Given the description of an element on the screen output the (x, y) to click on. 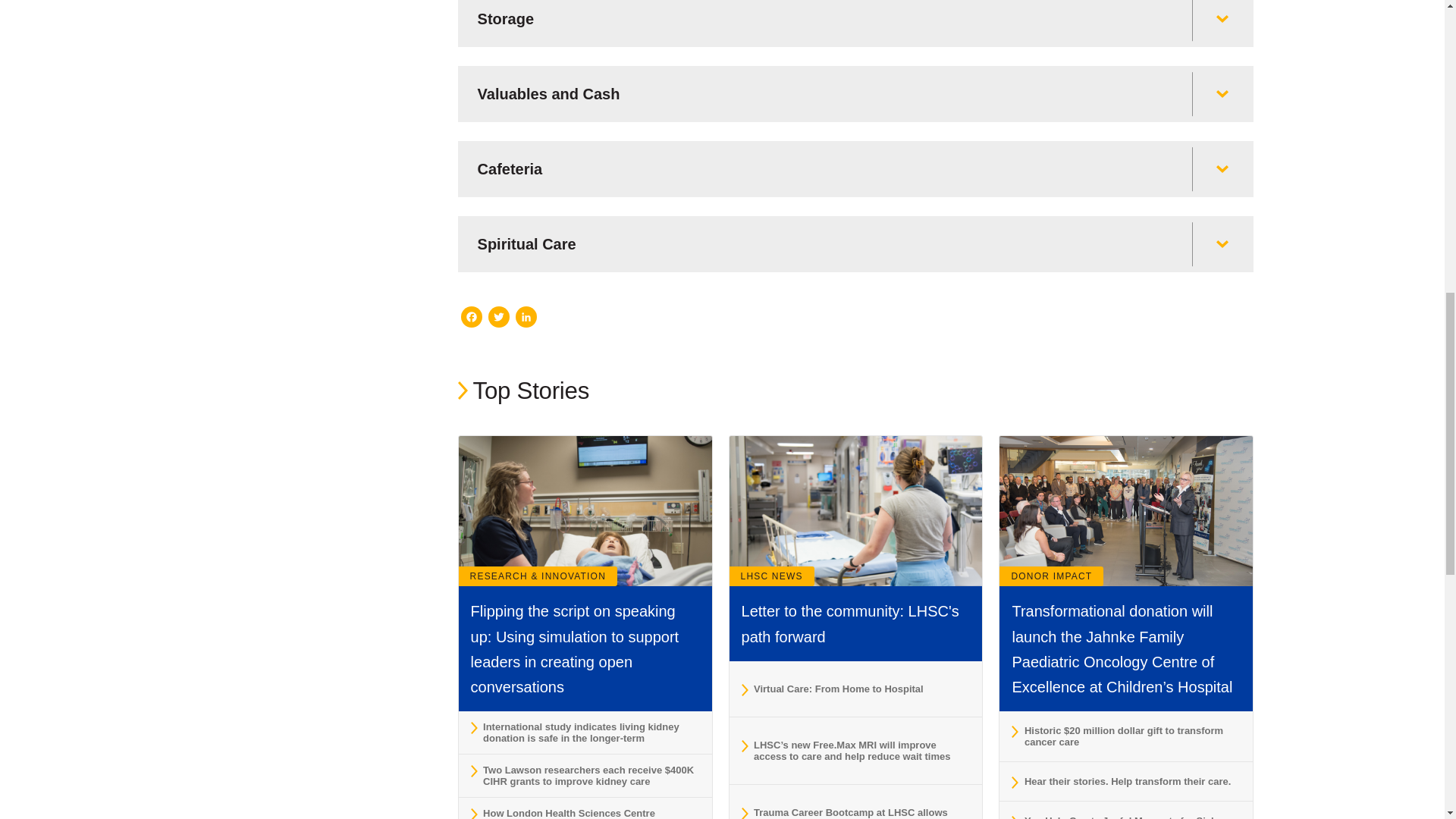
Virtual Care: From Home to Hospital (855, 688)
DONOR IMPACT (1050, 576)
LHSC NEWS (771, 576)
Letter to the community: LHSC's path forward (850, 623)
Hear their stories. Help transform their care. (1125, 780)
